Given the description of an element on the screen output the (x, y) to click on. 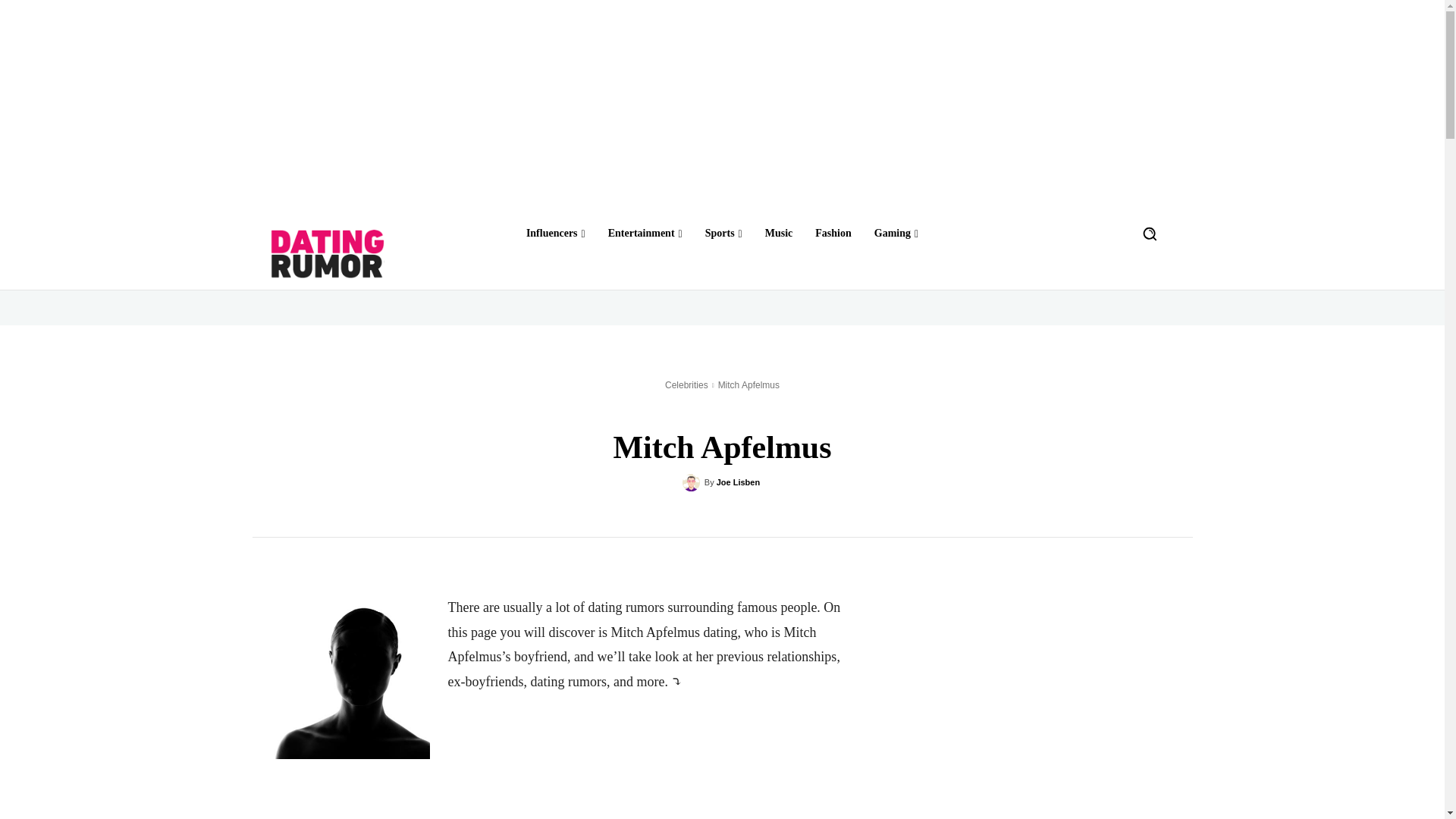
Gaming (896, 232)
Influencers (555, 232)
Sports (723, 232)
Music (778, 232)
Fashion (833, 232)
Entertainment (644, 232)
